Given the description of an element on the screen output the (x, y) to click on. 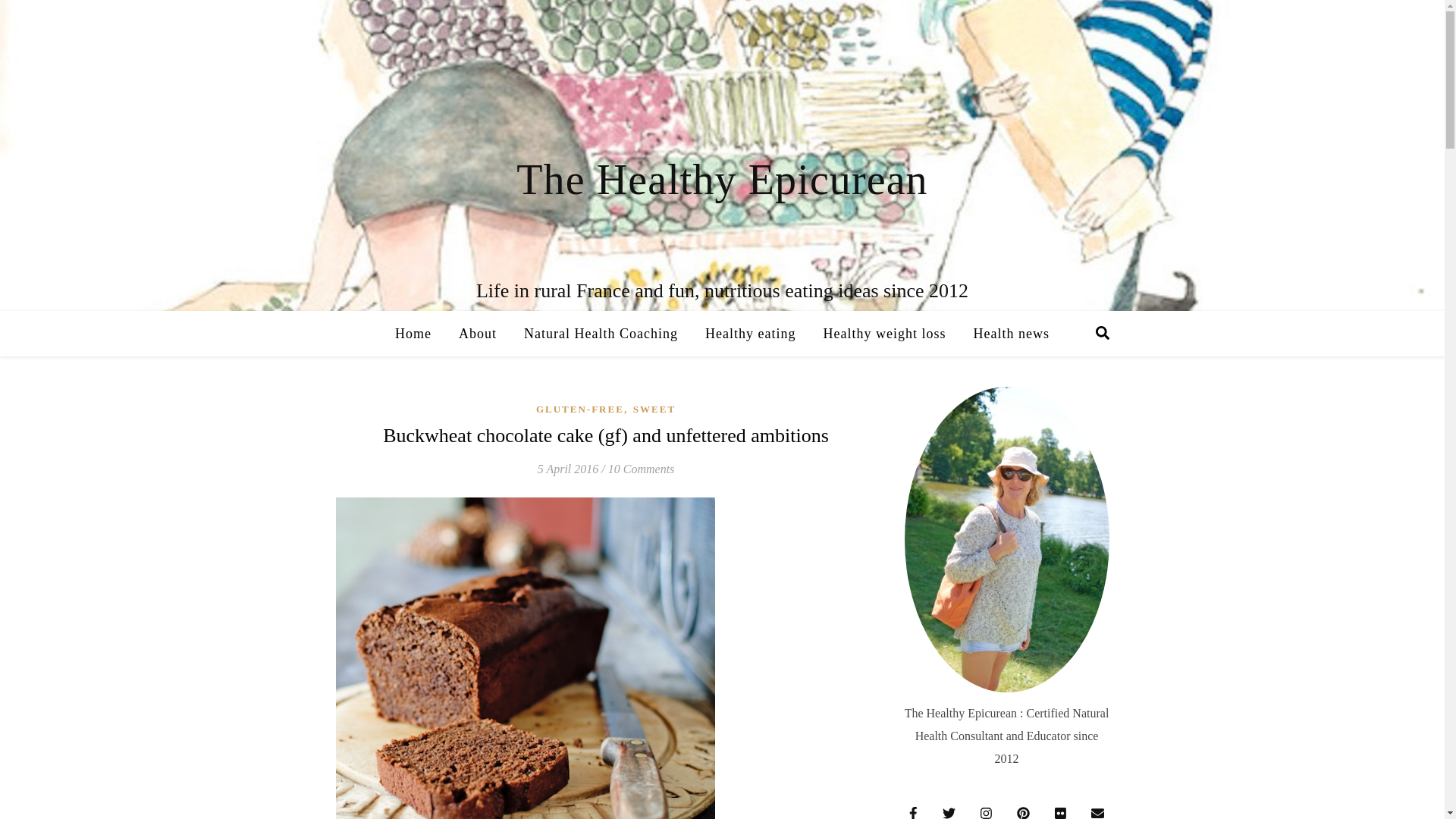
Health news (1004, 333)
GLUTEN-FREE (579, 408)
Natural Health Coaching (601, 333)
SWEET (654, 408)
The Healthy Epicurean (722, 179)
About (477, 333)
Home (419, 333)
Healthy eating (750, 333)
Healthy weight loss (884, 333)
10 Comments (641, 468)
